Given the description of an element on the screen output the (x, y) to click on. 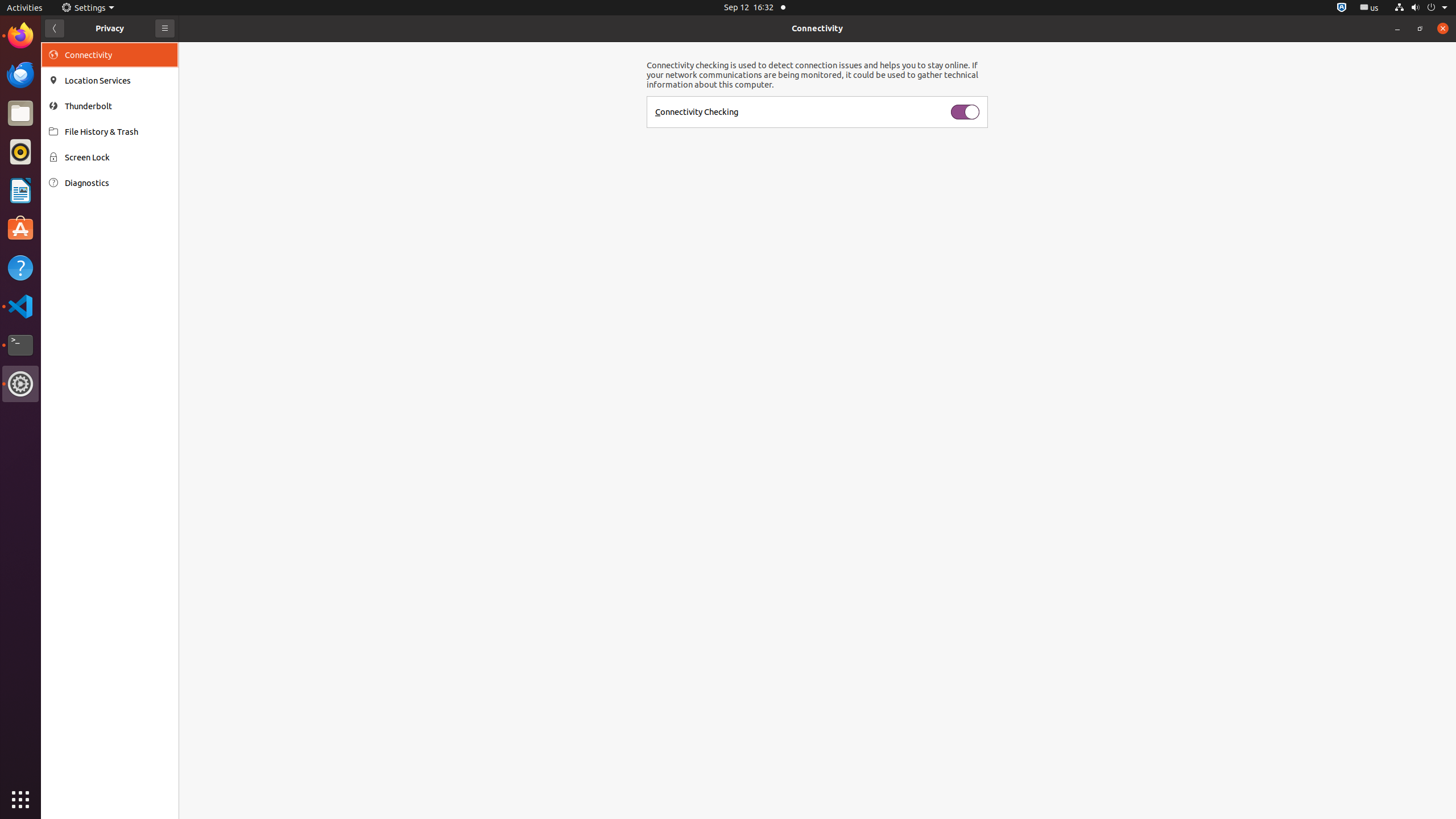
IsaHelpMain.desktop Element type: label (75, 170)
Settings Element type: push-button (20, 383)
Connectivity checking is used to detect connection issues and helps you to stay online. If your network communications are being monitored, it could be used to gather technical information about this computer. Element type: label (816, 74)
File History & Trash Element type: label (117, 131)
